Given the description of an element on the screen output the (x, y) to click on. 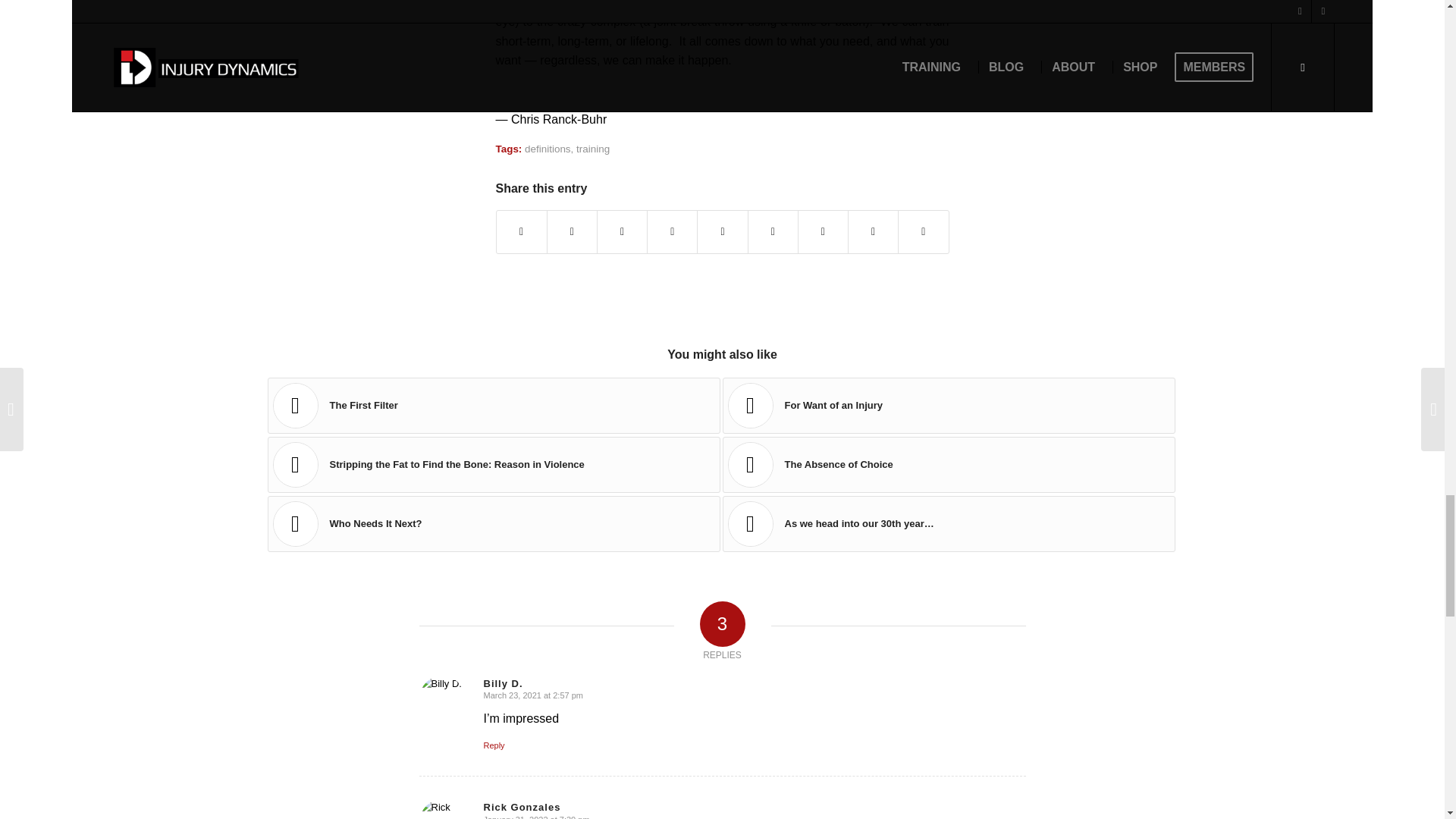
definitions (547, 148)
training (593, 148)
The First Filter (492, 405)
